Given the description of an element on the screen output the (x, y) to click on. 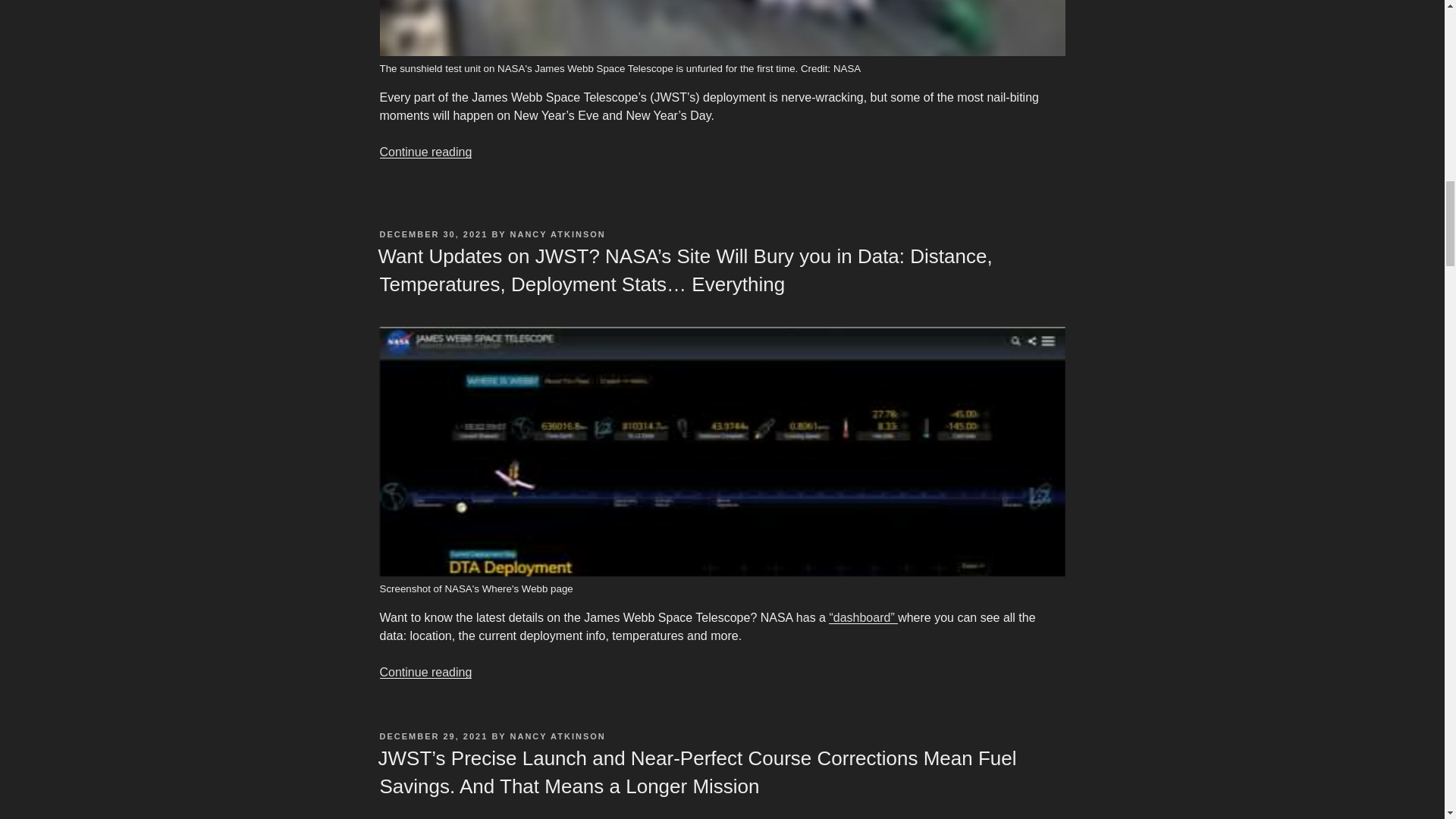
DECEMBER 30, 2021 (432, 234)
NANCY ATKINSON (558, 736)
DECEMBER 29, 2021 (432, 736)
NANCY ATKINSON (558, 234)
